Given the description of an element on the screen output the (x, y) to click on. 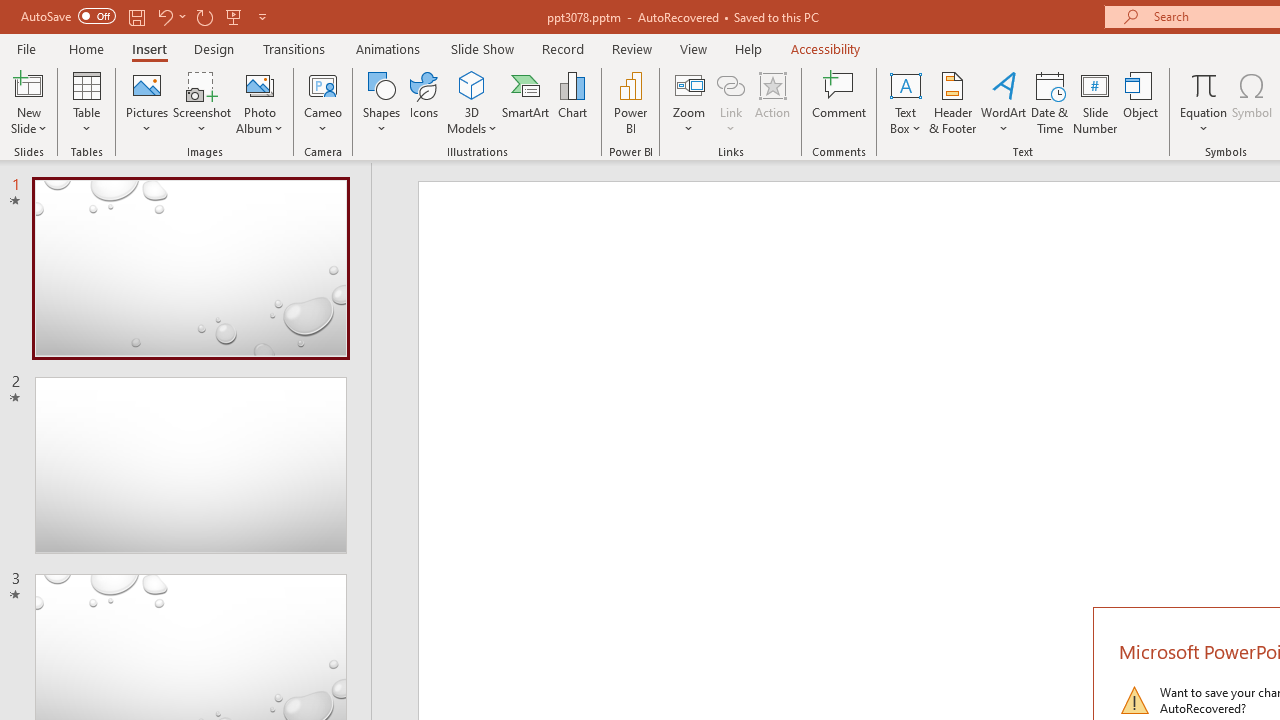
Comment (839, 102)
Power BI (630, 102)
3D Models (472, 102)
Warning Icon (1134, 699)
WordArt (1004, 102)
Icons (424, 102)
Chart... (572, 102)
